Given the description of an element on the screen output the (x, y) to click on. 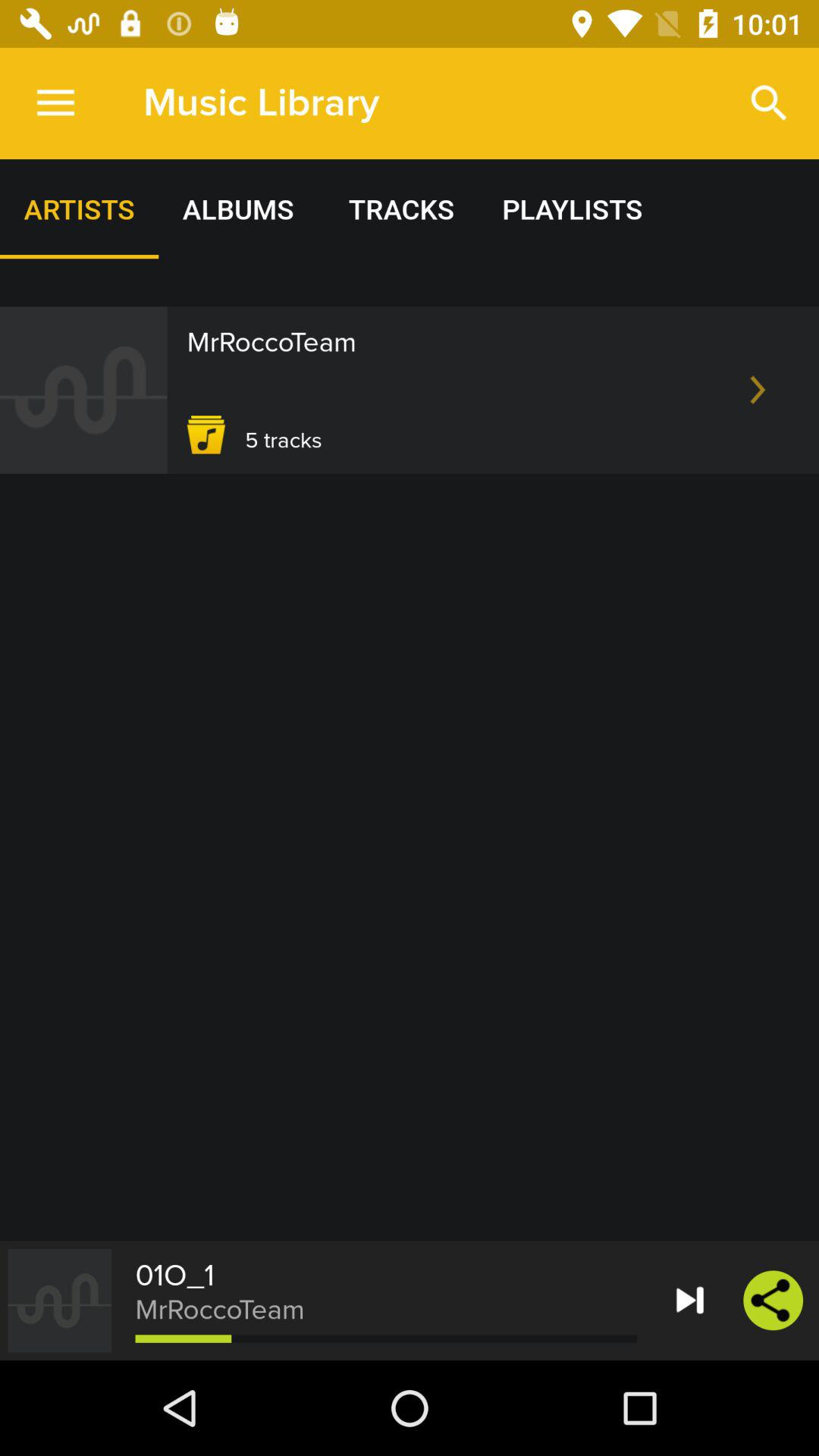
click on the share icon (772, 1300)
click on the forward icon (689, 1300)
select the icon left to 5 tracks (206, 434)
click on icon which is right to text mrroccoteam (757, 389)
select the icon which is left to the text mrroccoteam (59, 1300)
